Given the description of an element on the screen output the (x, y) to click on. 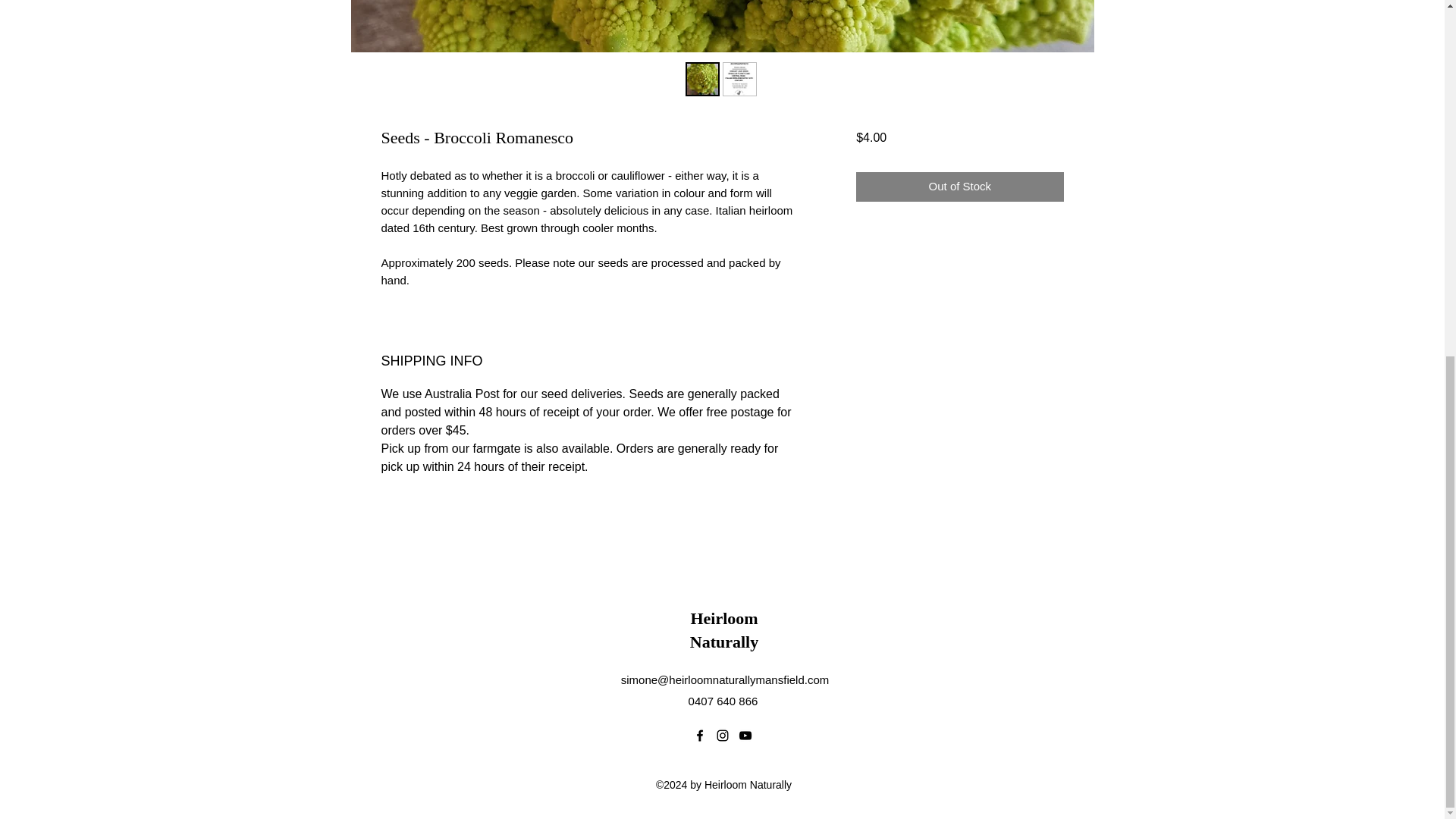
Heirloom Naturally (724, 630)
Out of Stock (959, 186)
